Given the description of an element on the screen output the (x, y) to click on. 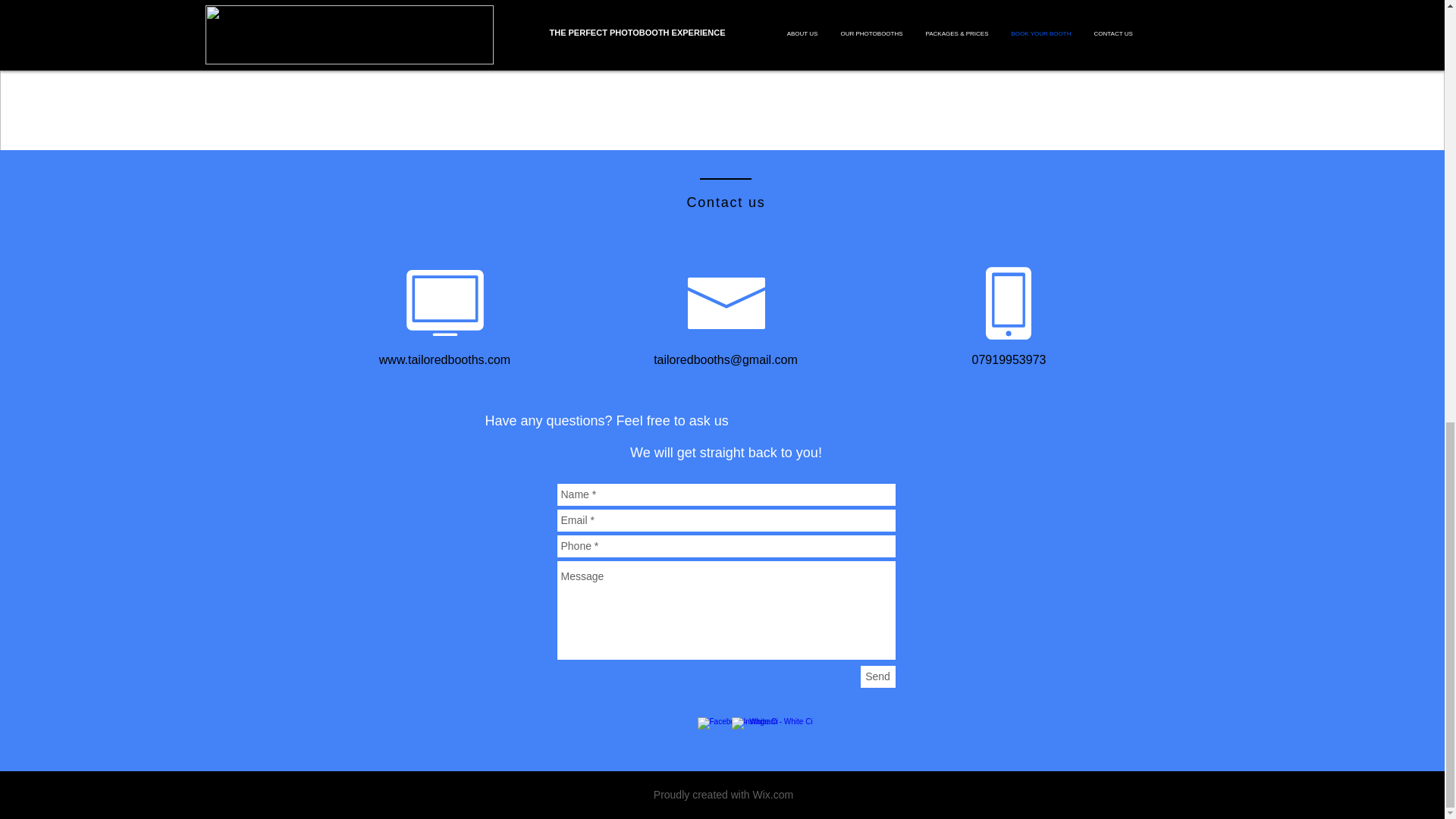
Wix.com (772, 794)
Send (877, 676)
www.tailoredbooths.com (443, 359)
07919953973 (1008, 359)
